Given the description of an element on the screen output the (x, y) to click on. 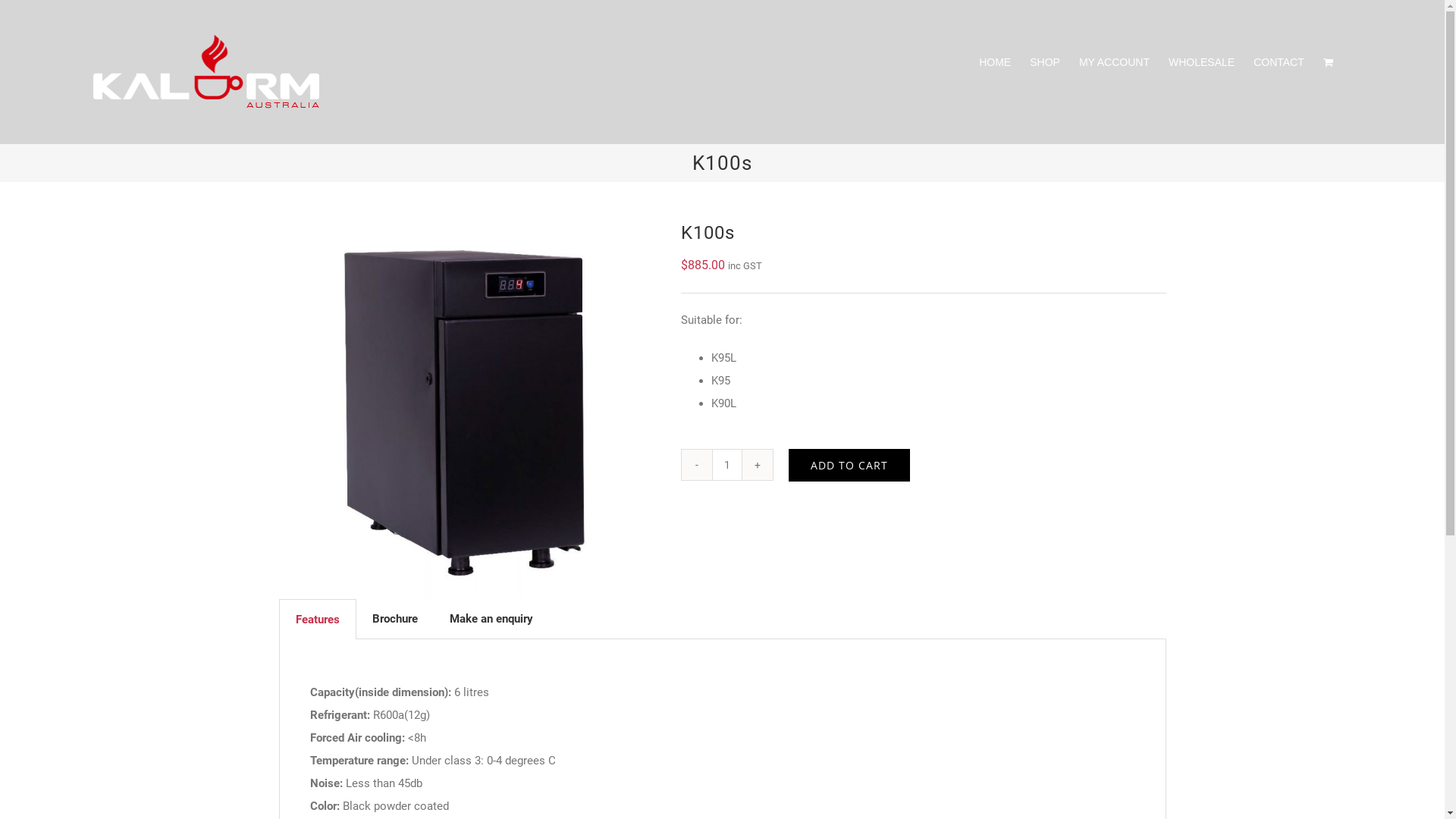
Brochure Element type: text (394, 618)
Make an enquiry Element type: text (491, 618)
WHOLESALE Element type: text (1201, 61)
CONTACT Element type: text (1278, 61)
HOME Element type: text (994, 61)
Features Element type: text (316, 619)
SHOP Element type: text (1044, 61)
MY ACCOUNT Element type: text (1114, 61)
K100s Fridge Element type: hover (468, 409)
ADD TO CART Element type: text (849, 464)
